Given the description of an element on the screen output the (x, y) to click on. 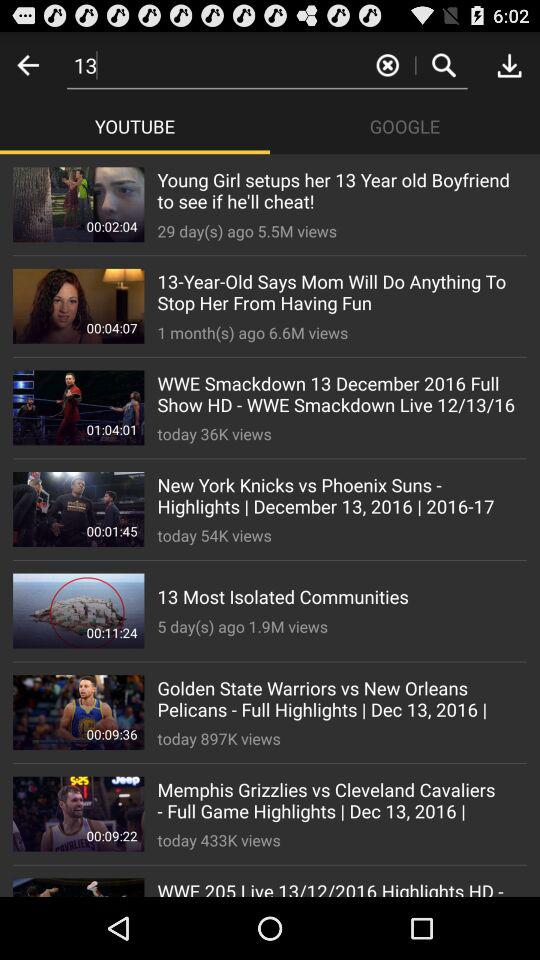
download option (509, 64)
